Given the description of an element on the screen output the (x, y) to click on. 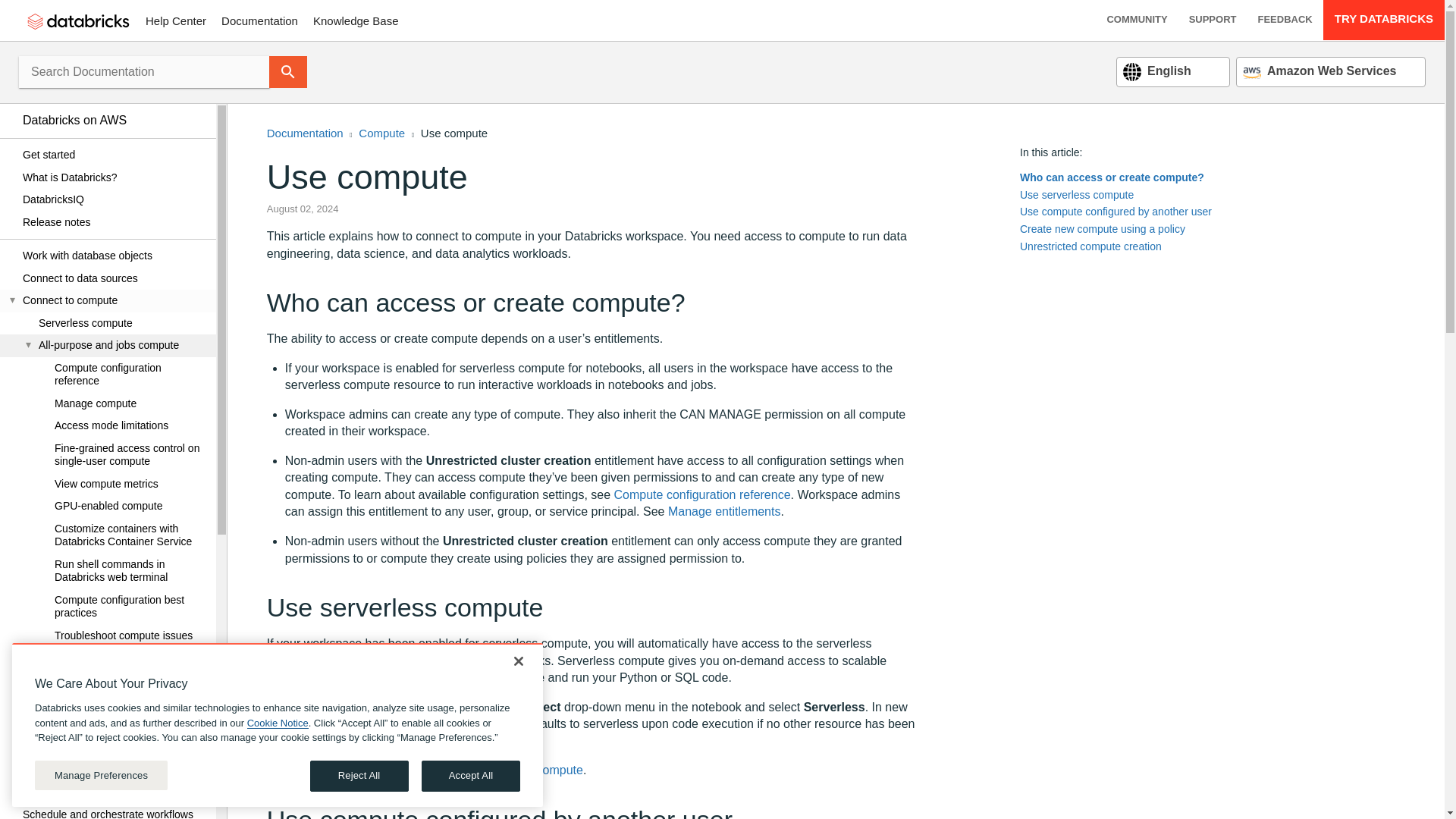
Fine-grained access control on single-user compute (113, 454)
Run shell commands in Databricks web terminal (113, 570)
Connect to data sources (113, 277)
FEEDBACK (1284, 19)
Databricks on AWS (113, 120)
Get started (113, 155)
Work with database objects (113, 255)
Help Center (176, 20)
Serverless compute (113, 323)
English (1156, 72)
